Given the description of an element on the screen output the (x, y) to click on. 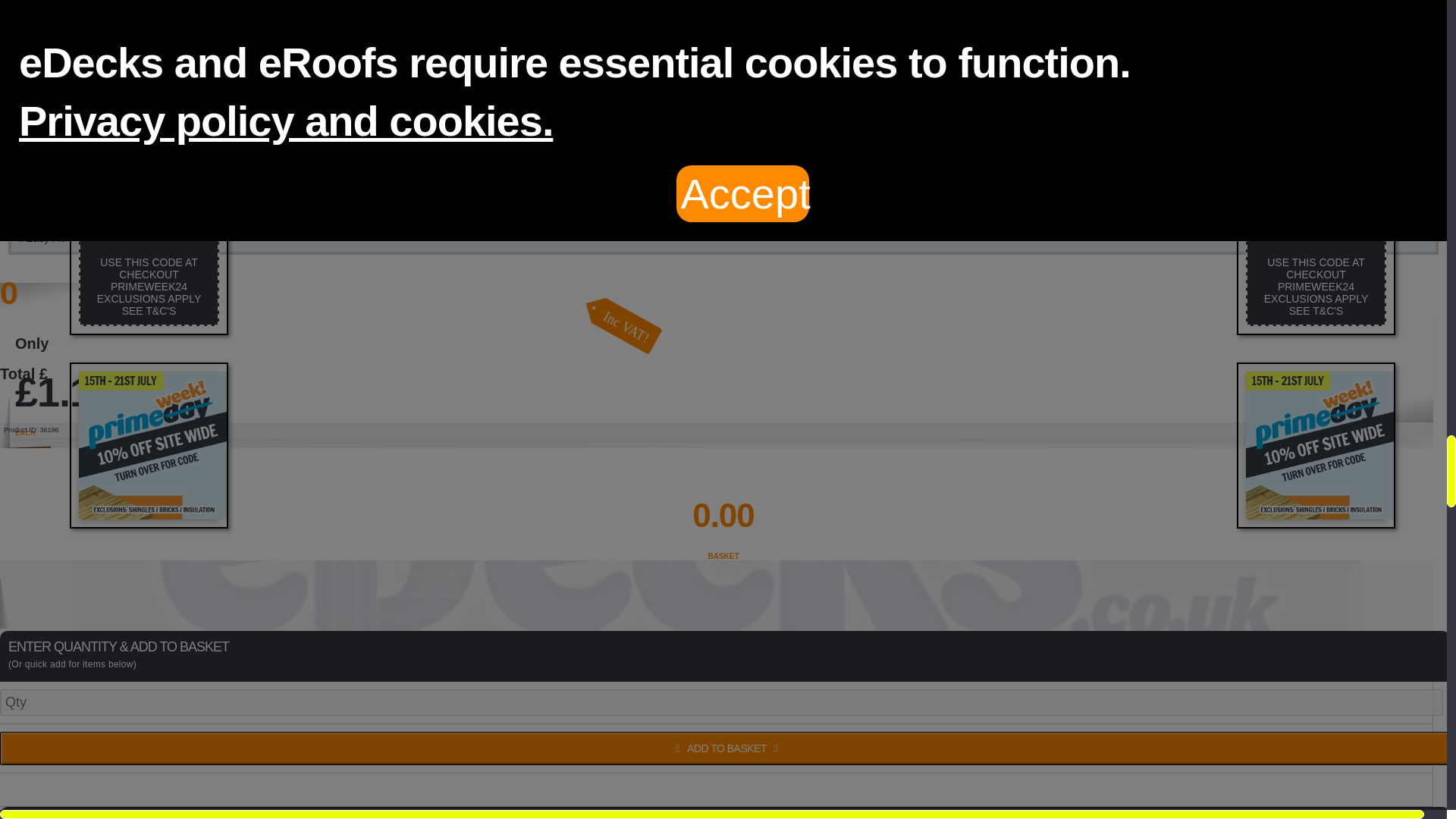
PayPal Message 1 (716, 789)
